Given the description of an element on the screen output the (x, y) to click on. 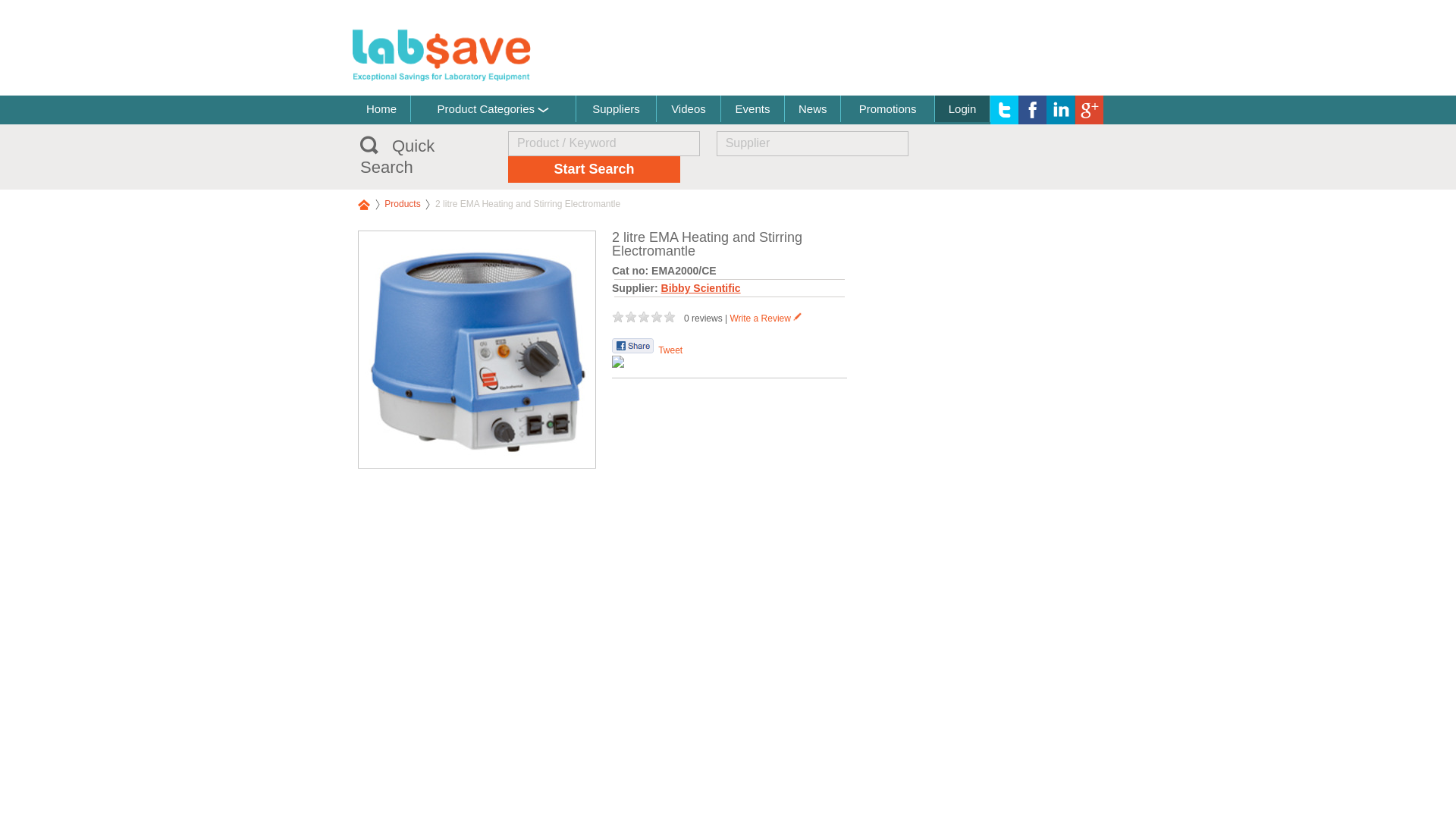
Start Search (593, 169)
Read More on Supplier Website (476, 464)
Suppliers (616, 108)
Labsave: Exceptional Savings for Laboratory Equipment (441, 54)
Product Categories (492, 108)
Videos (687, 108)
Events (752, 108)
Products (402, 204)
News (812, 108)
Login (962, 108)
